Given the description of an element on the screen output the (x, y) to click on. 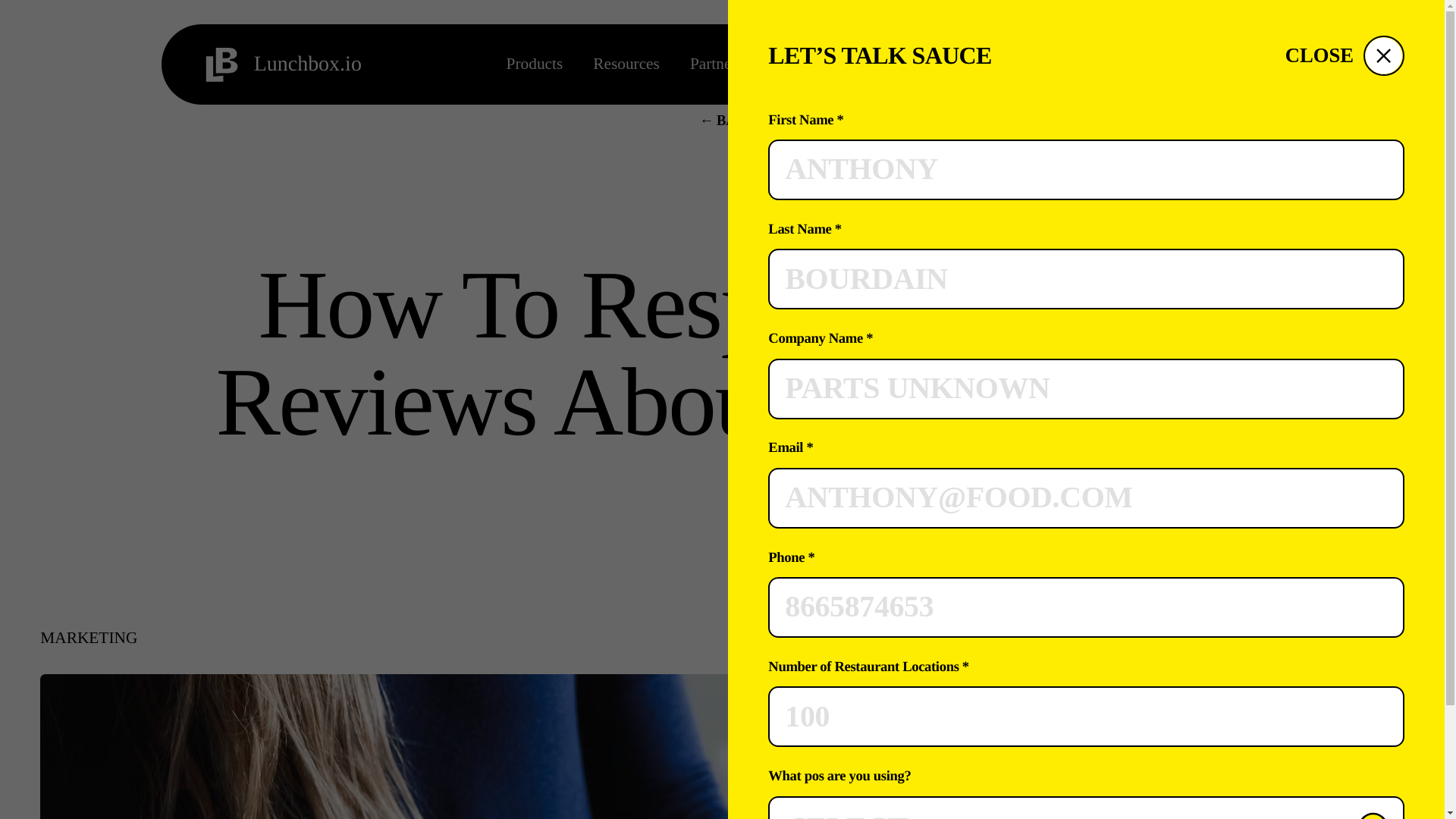
Lunchbox.io (281, 64)
Products (534, 64)
Partners (716, 64)
CLOSE (1345, 56)
Resources (625, 64)
Get Demo (1203, 64)
Company (804, 64)
